Given the description of an element on the screen output the (x, y) to click on. 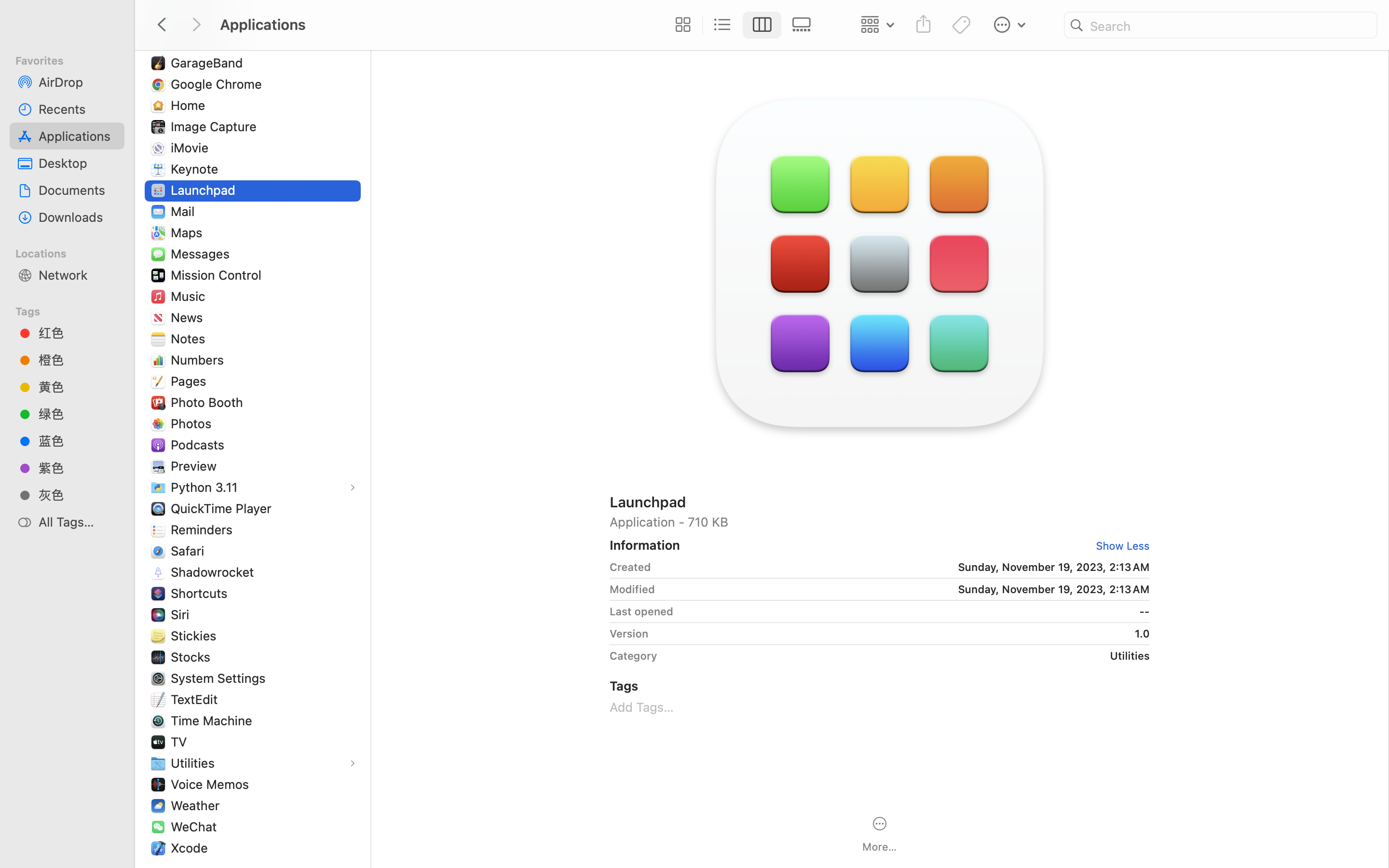
Podcasts Element type: AXTextField (199, 444)
Mail Element type: AXTextField (184, 210)
Launchpad Element type: AXStaticText (879, 501)
Utilities Element type: AXStaticText (906, 655)
Notes Element type: AXTextField (189, 338)
